Given the description of an element on the screen output the (x, y) to click on. 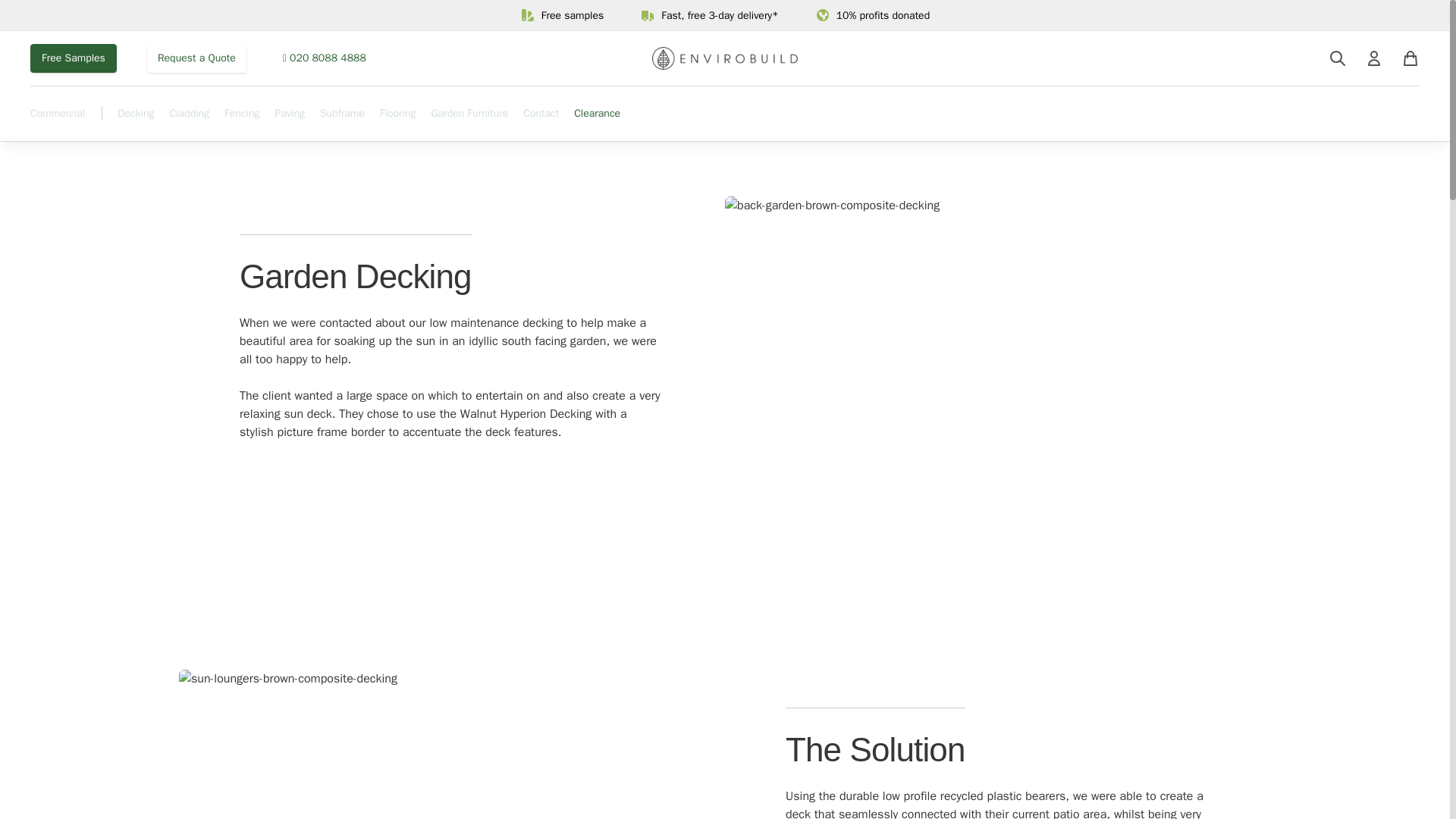
Paving (289, 121)
Search (1336, 58)
Cladding (189, 121)
Commercial (57, 113)
Commercial (57, 121)
Flooring (398, 113)
Free samples (561, 15)
Subframe (342, 113)
Request a Quote (196, 58)
Decking (135, 113)
Account (1374, 58)
Paving (289, 113)
Fencing (241, 121)
Fencing (241, 113)
Cart (1409, 58)
